Given the description of an element on the screen output the (x, y) to click on. 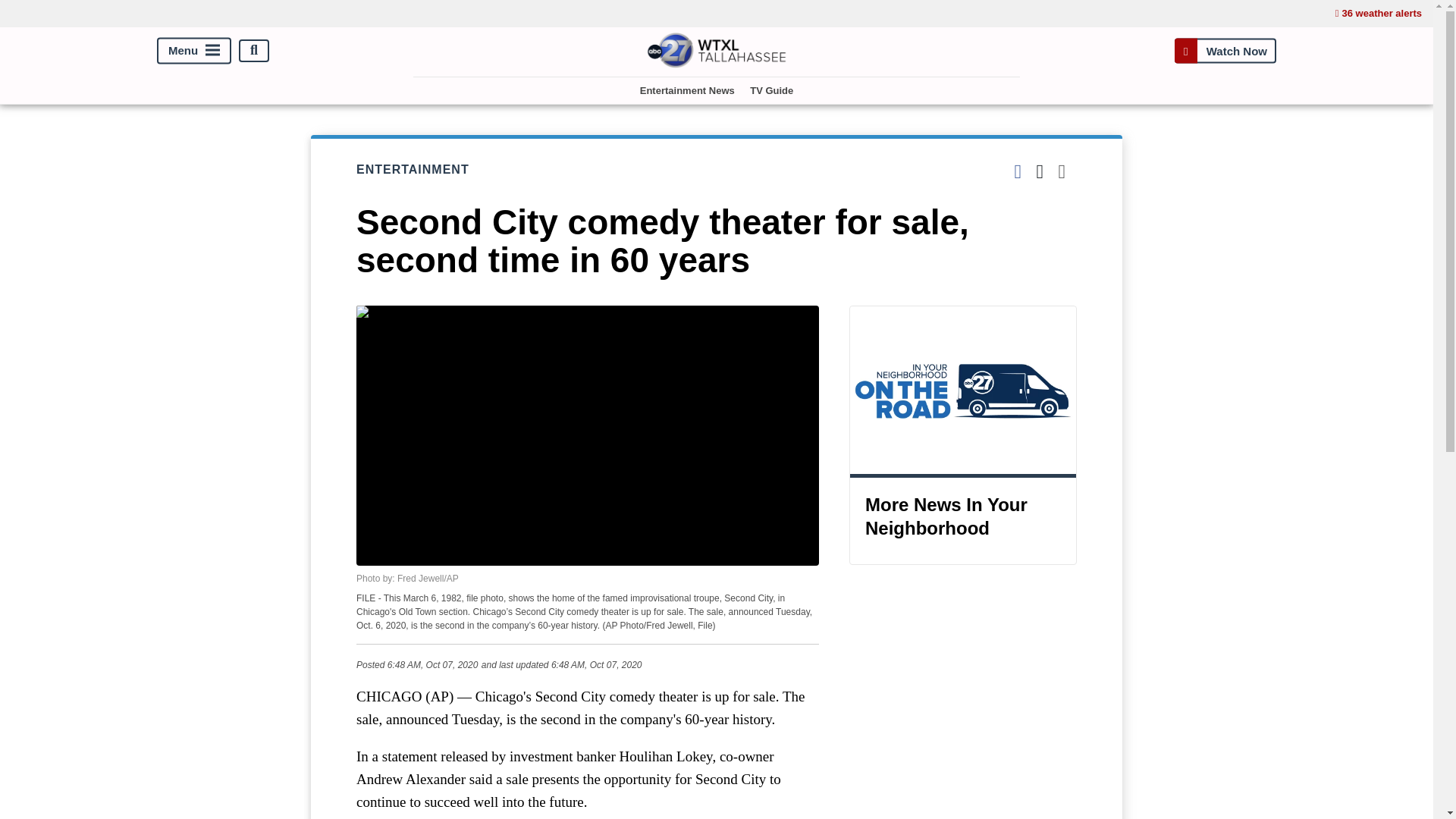
Watch Now (1224, 50)
Menu (194, 49)
